Given the description of an element on the screen output the (x, y) to click on. 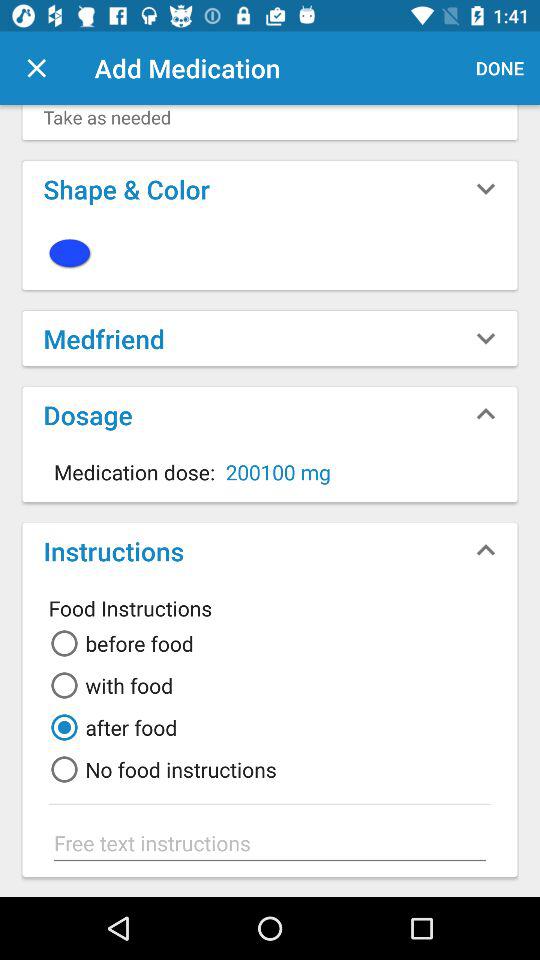
turn off before food (118, 643)
